Given the description of an element on the screen output the (x, y) to click on. 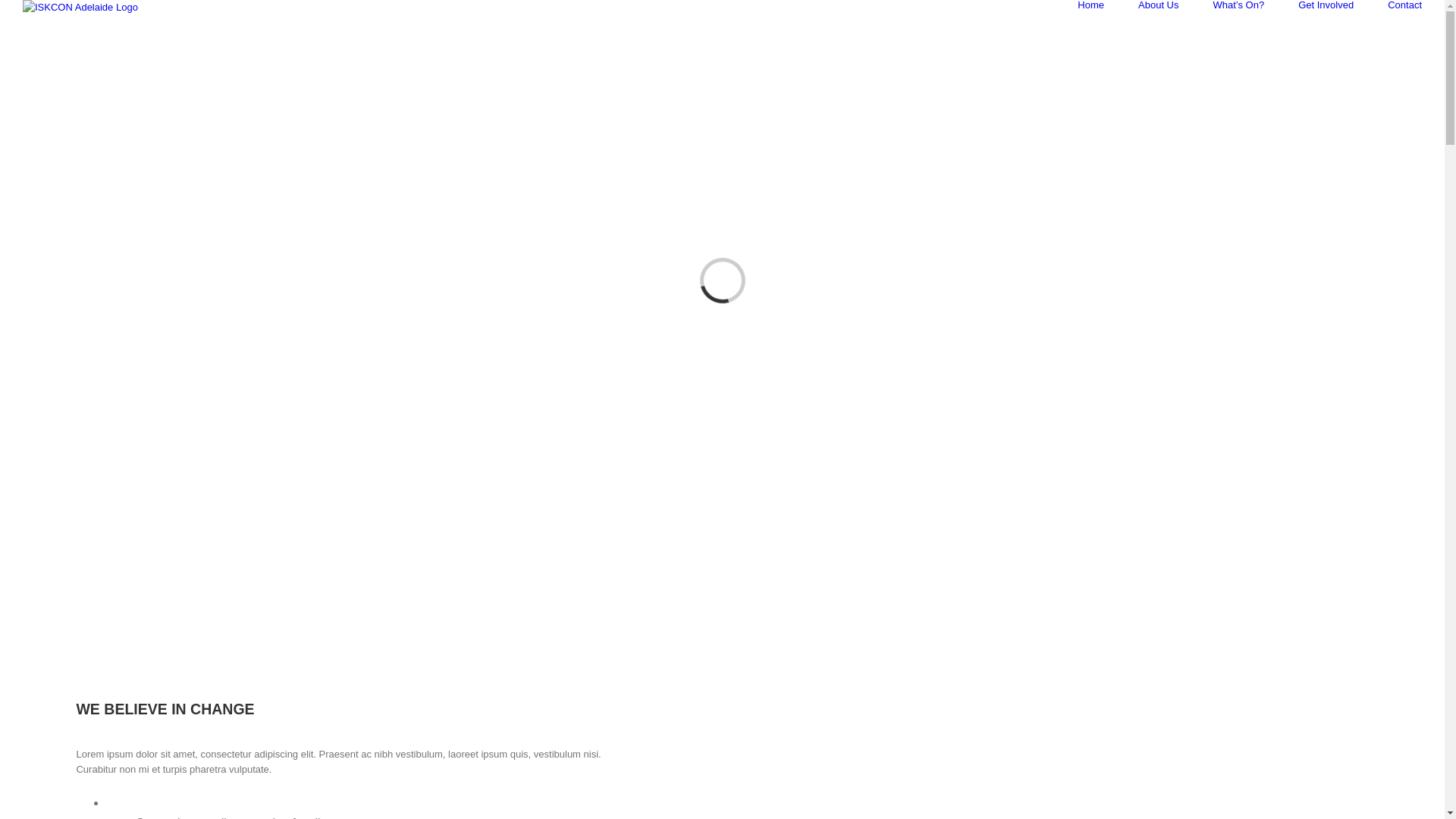
Home Element type: text (1090, 4)
Contact Element type: text (1404, 4)
Get Involved Element type: text (1325, 4)
About Us Element type: text (1158, 4)
